Given the description of an element on the screen output the (x, y) to click on. 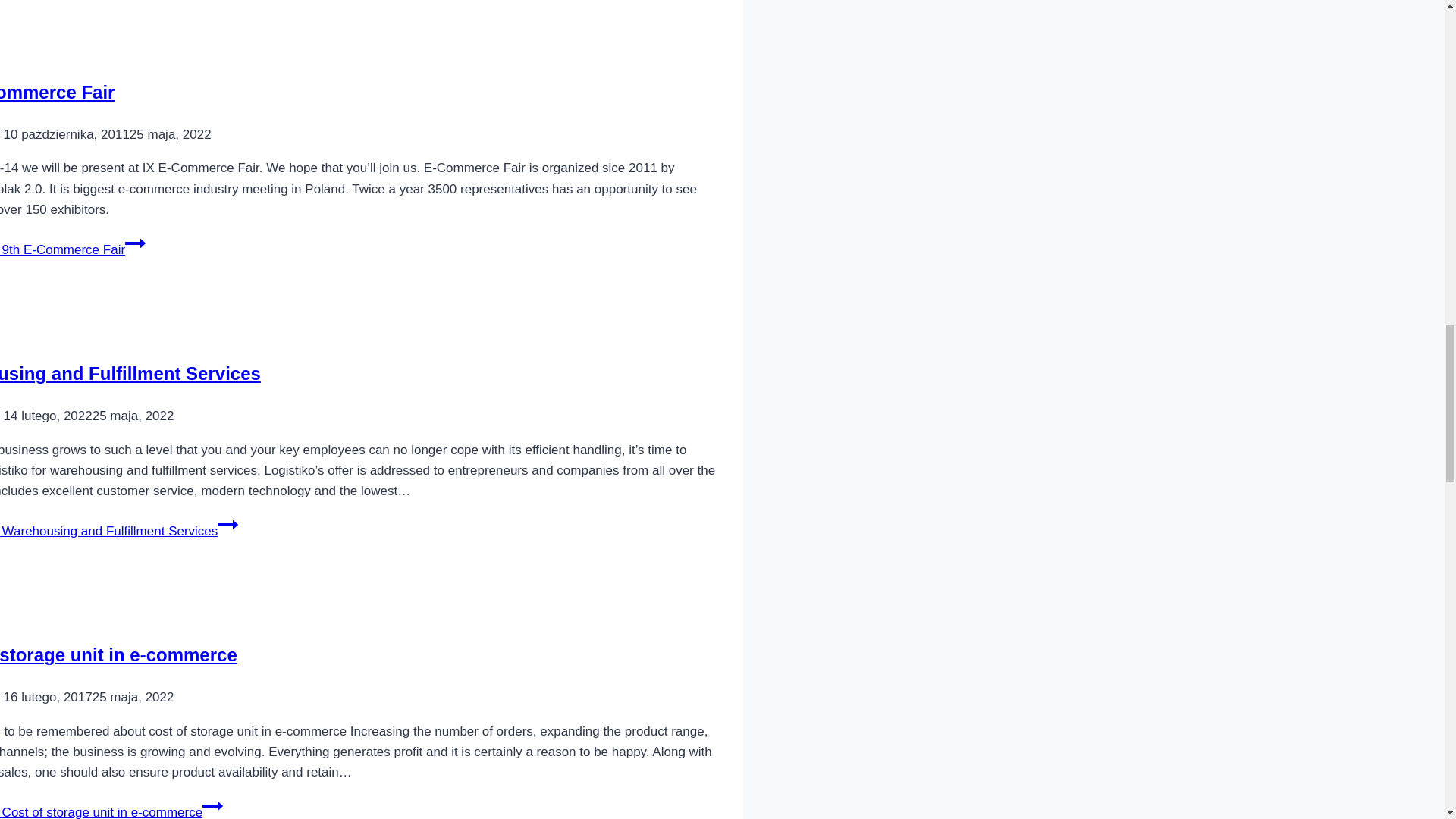
Kontynuuj (135, 242)
Kontynuuj (227, 524)
Kontynuuj (212, 805)
